Given the description of an element on the screen output the (x, y) to click on. 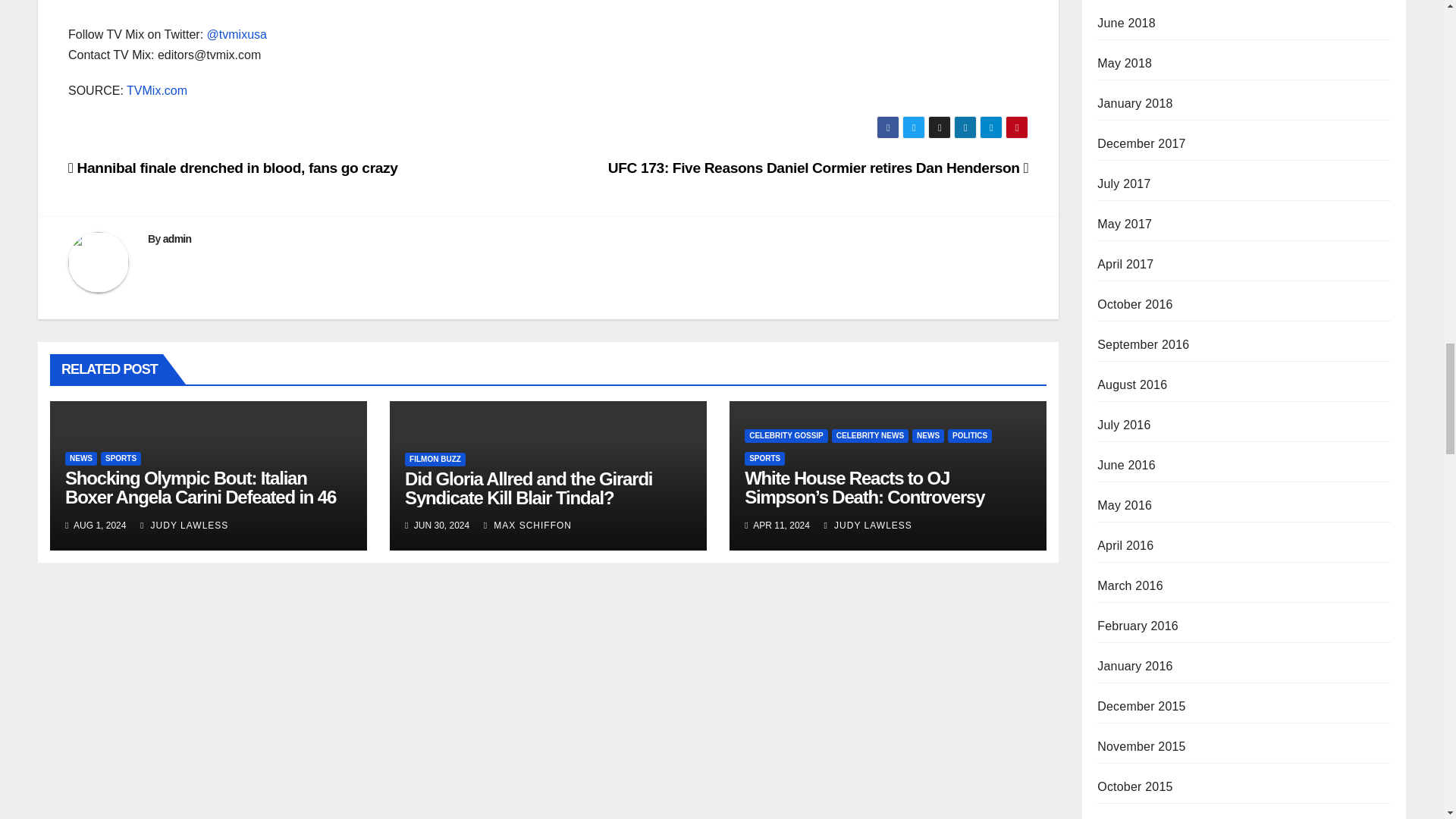
TVMix.com (156, 90)
UFC 173: Five Reasons Daniel Cormier retires Dan Henderson (817, 167)
Hannibal finale drenched in blood, fans go crazy (232, 167)
admin (177, 238)
